Given the description of an element on the screen output the (x, y) to click on. 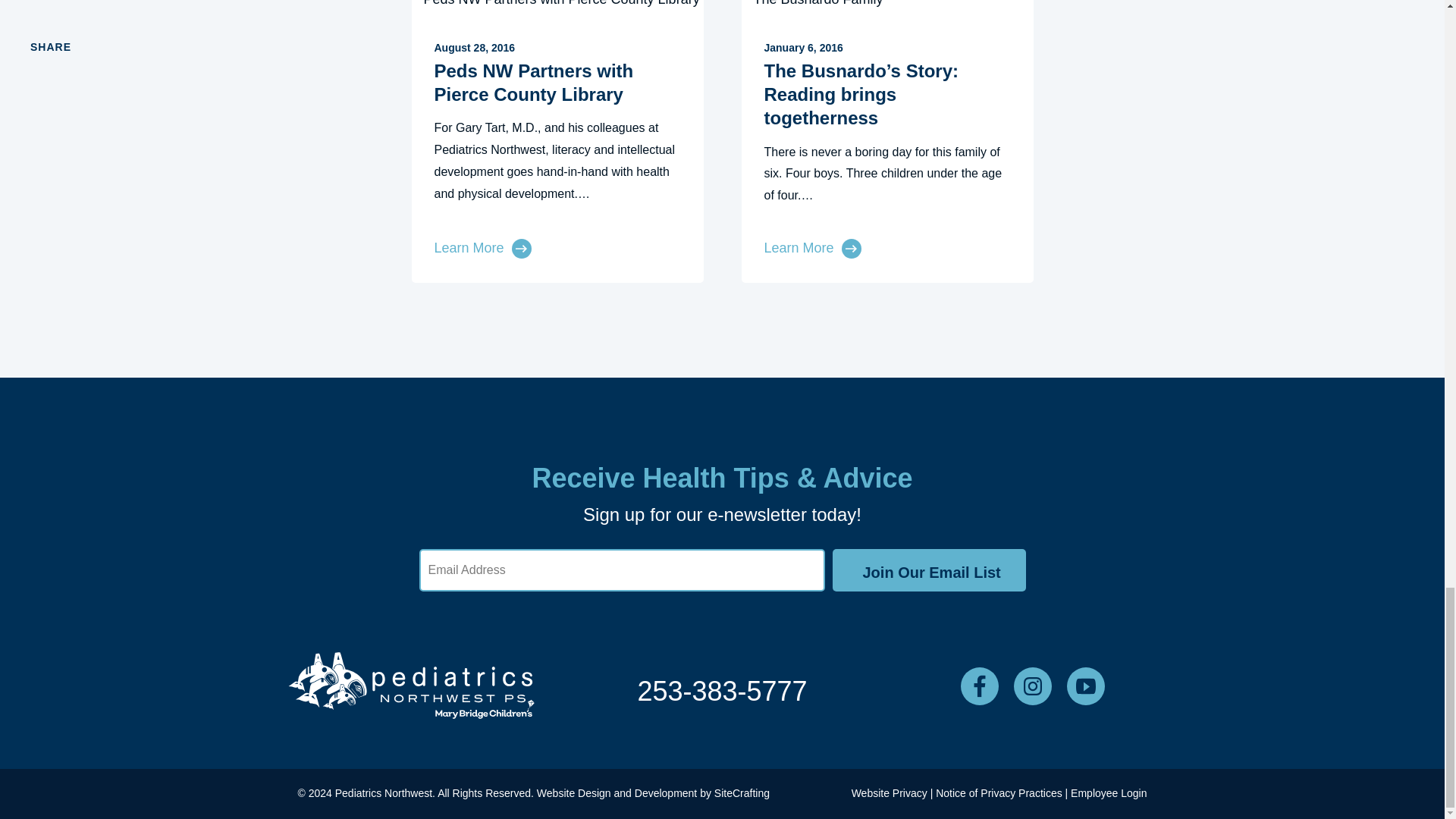
Peds NW Partners with Pierce County Library (533, 82)
Join Our Email List (929, 569)
Pediatrics Northwest Knockout Logo (410, 685)
